Given the description of an element on the screen output the (x, y) to click on. 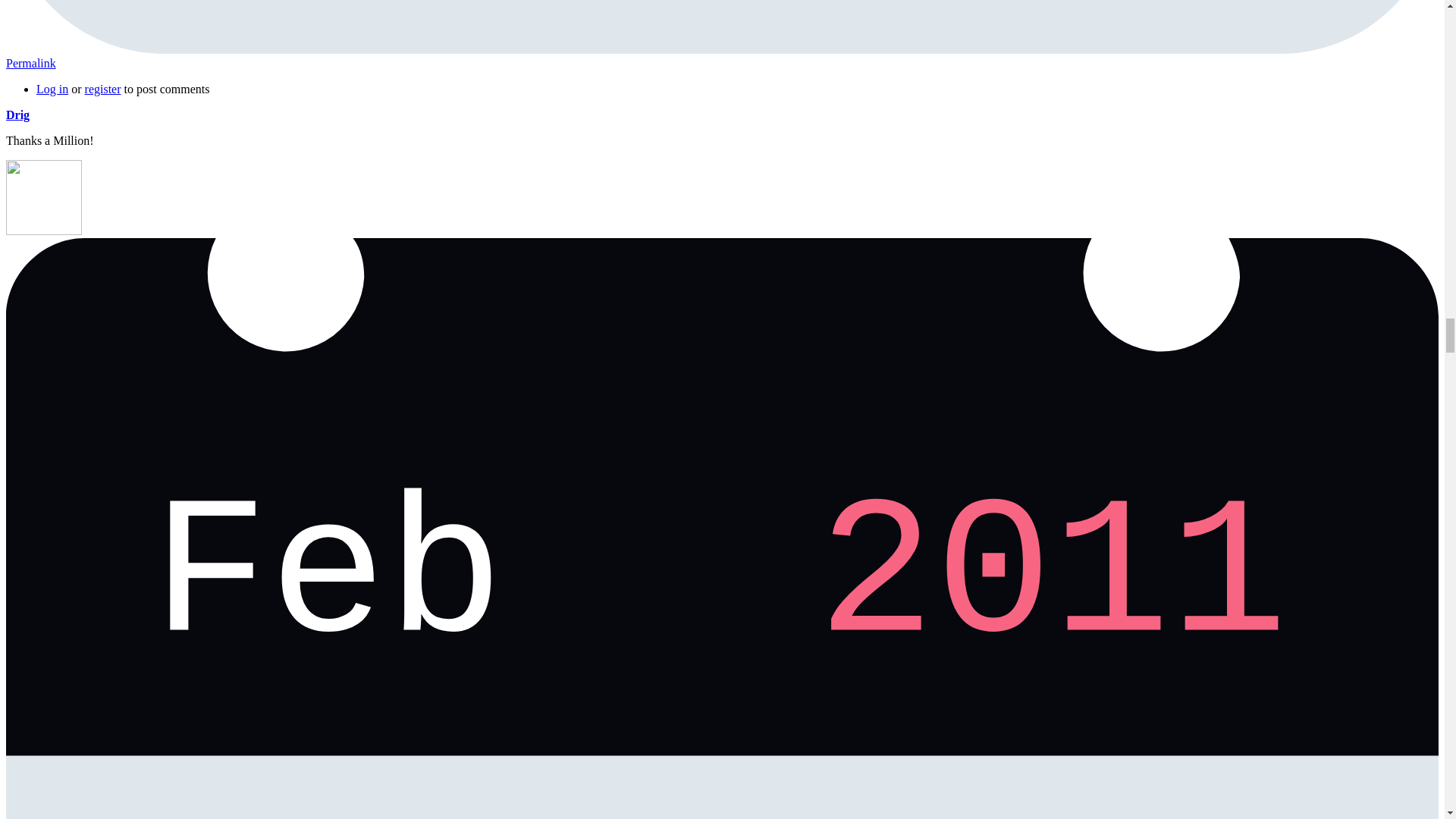
Log in (52, 88)
Drig (17, 114)
View user profile. (17, 114)
register (102, 88)
Permalink (30, 62)
